Given the description of an element on the screen output the (x, y) to click on. 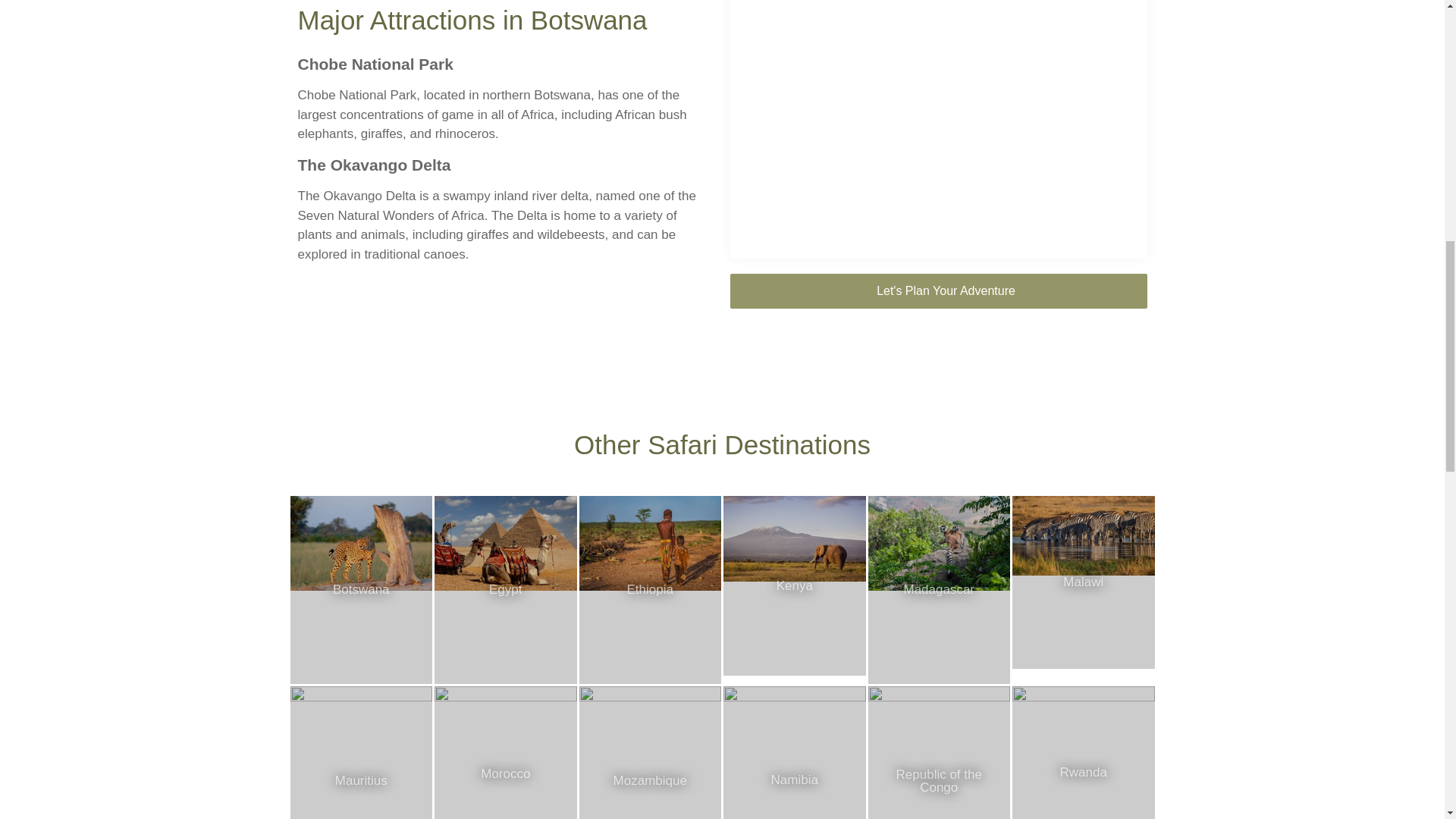
Republic of the Congo (938, 752)
Mauritius (360, 752)
Mozambique (650, 752)
Namibia (794, 752)
Let's Plan Your Adventure (938, 290)
Morocco (504, 752)
Rwanda (1082, 752)
